Given the description of an element on the screen output the (x, y) to click on. 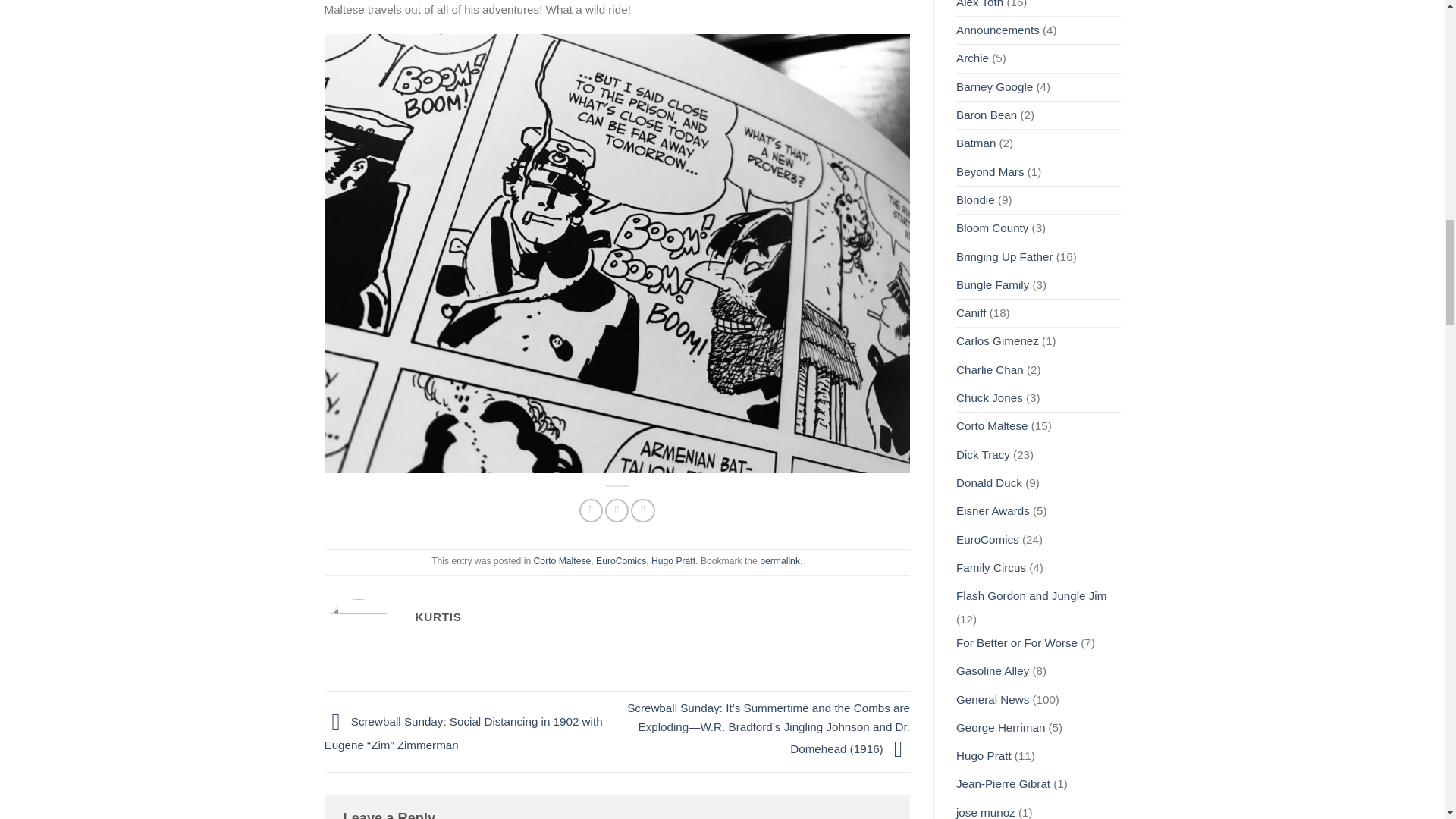
Corto Maltese (562, 561)
Hugo Pratt (672, 561)
permalink (779, 561)
Share on Facebook (590, 510)
Email to a Friend (641, 510)
Permalink to The Long Road to Samarkand (779, 561)
Share on Twitter (616, 510)
EuroComics (620, 561)
